Given the description of an element on the screen output the (x, y) to click on. 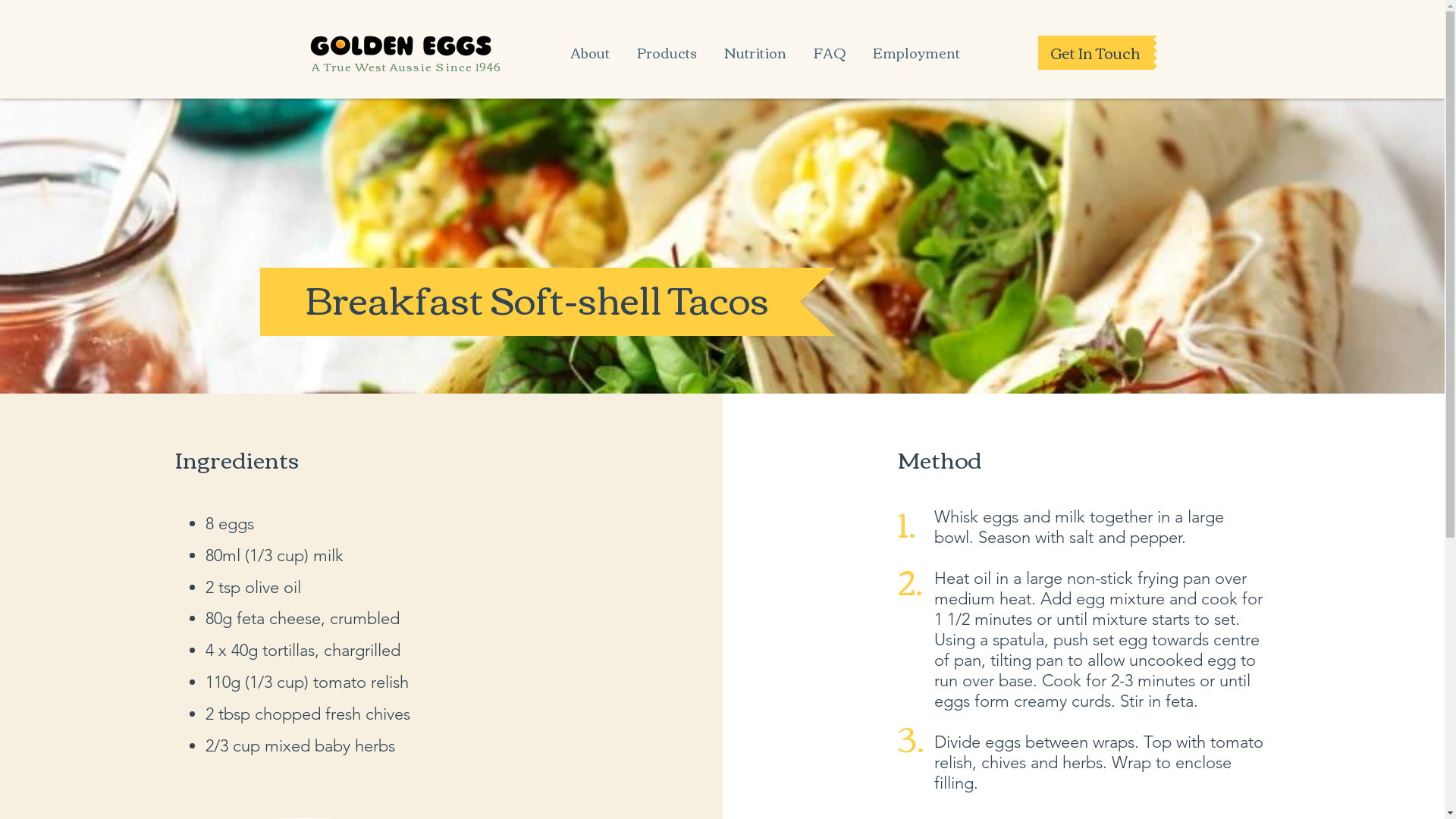
A True West Aussie Since 1946 Element type: text (405, 66)
About Element type: text (589, 45)
Nutrition Element type: text (754, 45)
Employment Element type: text (915, 45)
Products Element type: text (666, 45)
Get In Touch Element type: text (1094, 52)
FAQ Element type: text (828, 45)
